Given the description of an element on the screen output the (x, y) to click on. 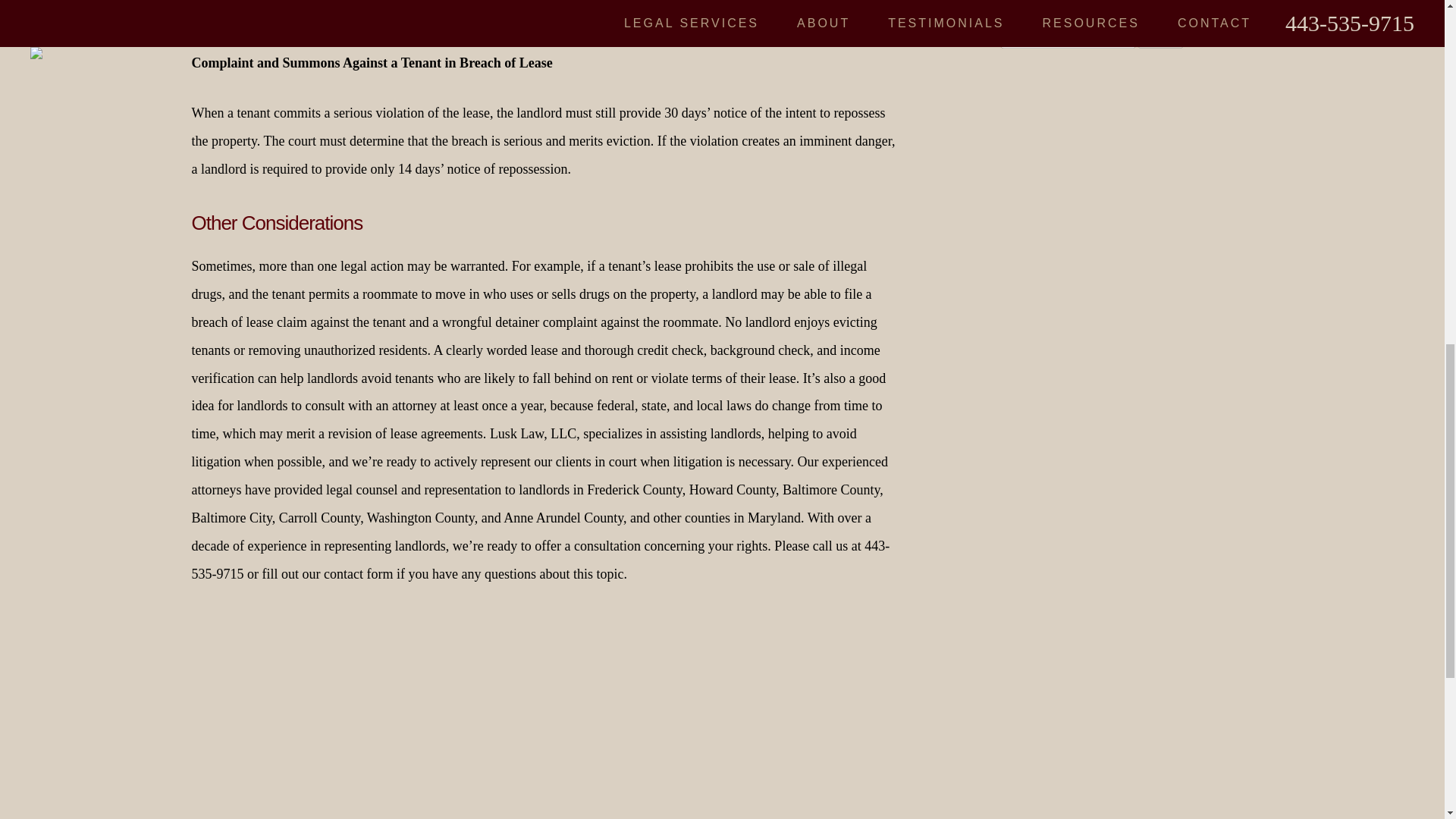
Search (1160, 40)
Search (1160, 40)
